Given the description of an element on the screen output the (x, y) to click on. 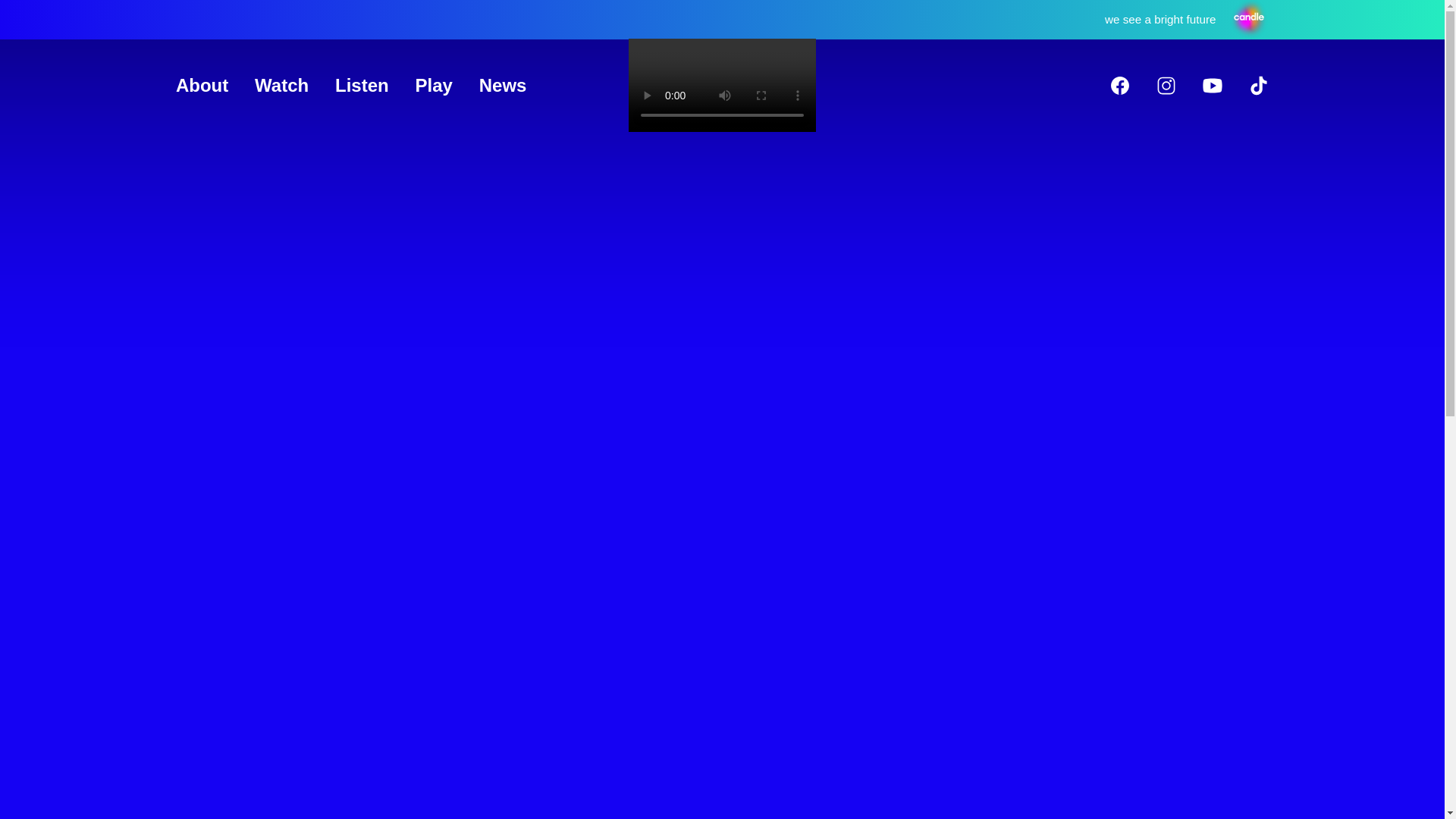
About (202, 85)
Listen (361, 85)
Play (433, 85)
News (503, 85)
Watch (281, 85)
